Given the description of an element on the screen output the (x, y) to click on. 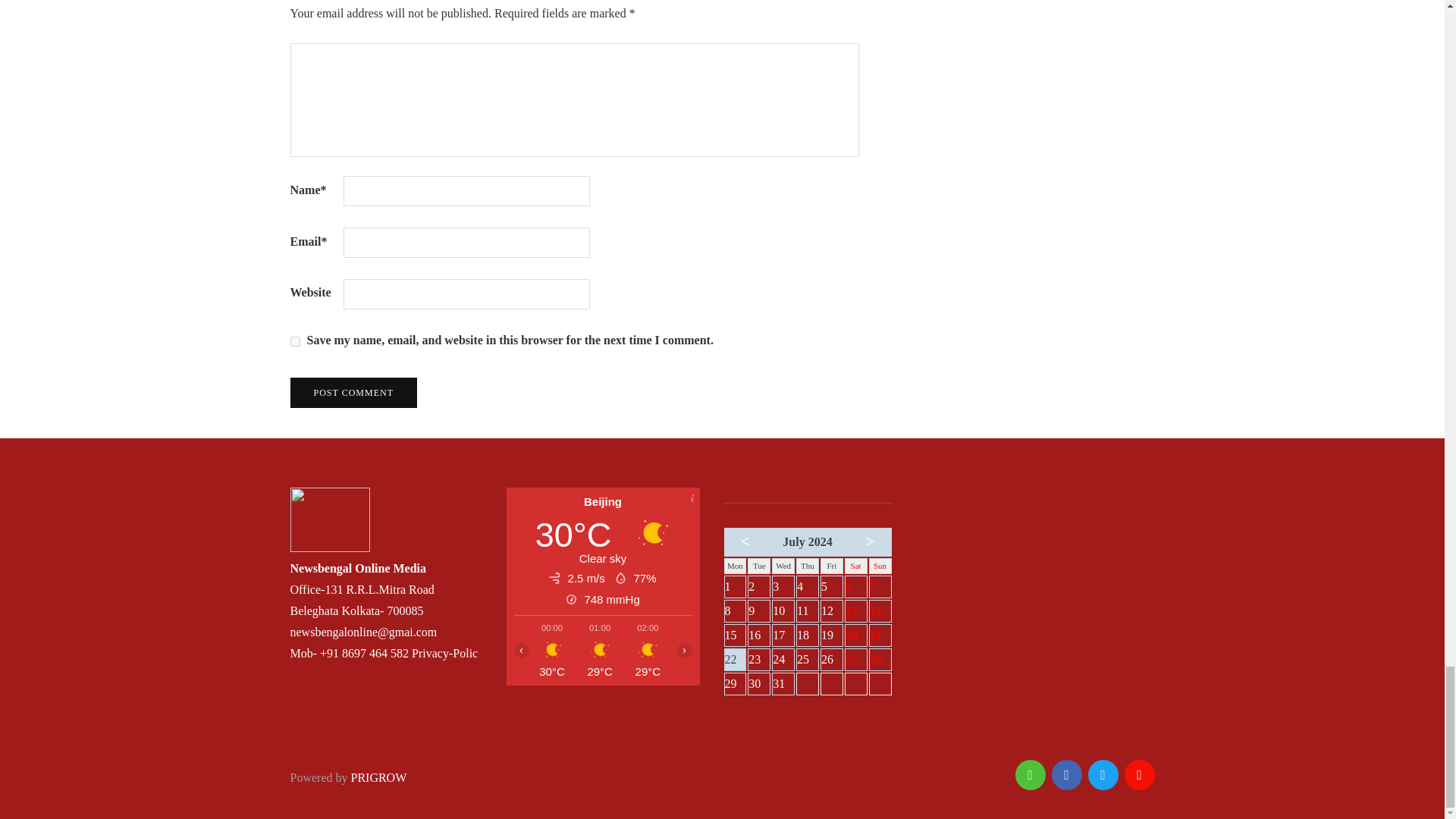
yes (294, 341)
Post comment (352, 392)
